Given the description of an element on the screen output the (x, y) to click on. 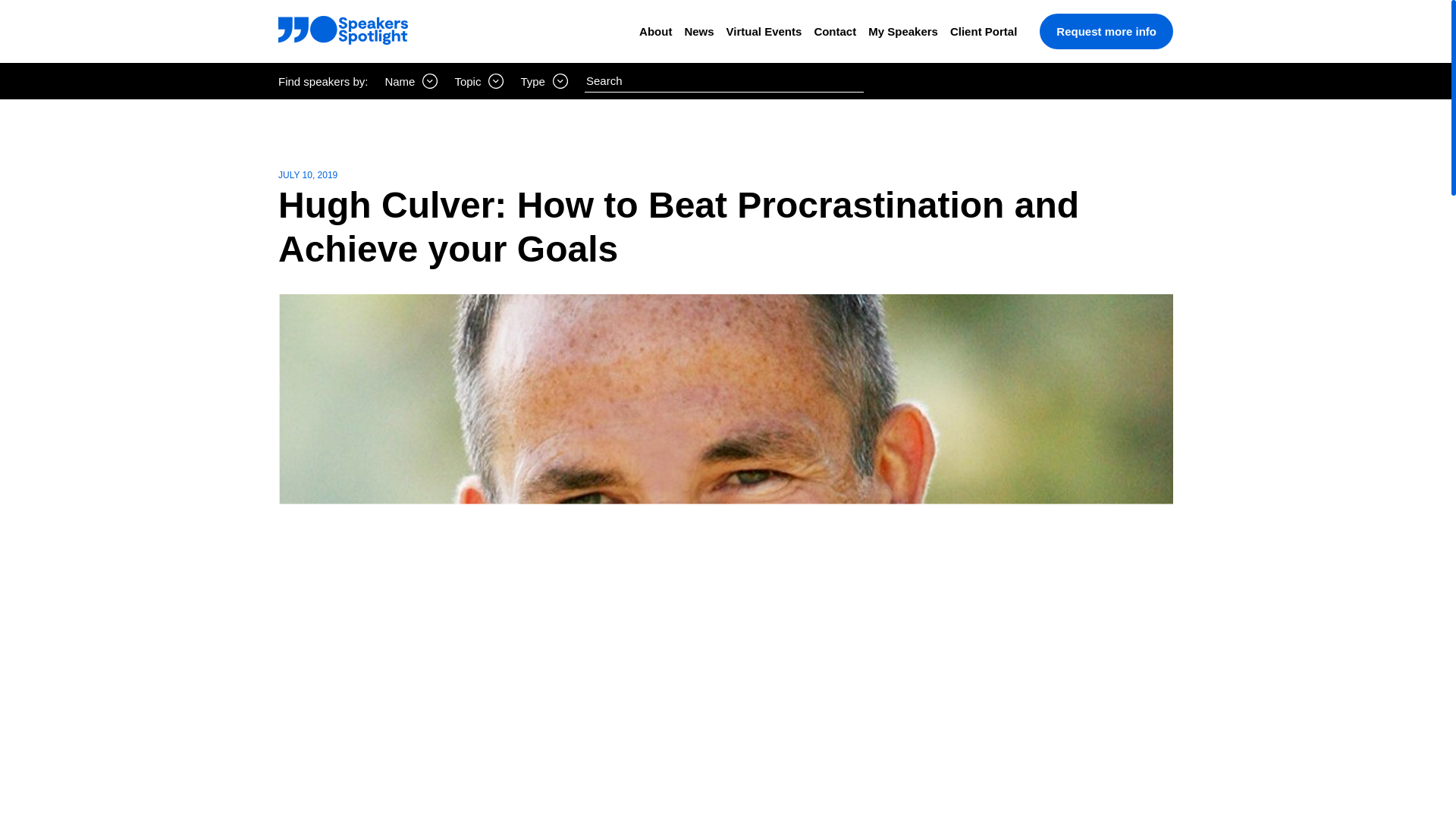
Virtual Events (764, 31)
My Speakers (902, 31)
Contact (834, 31)
Client Portal (983, 31)
Name (411, 80)
About (655, 31)
Request more info (1106, 31)
